Given the description of an element on the screen output the (x, y) to click on. 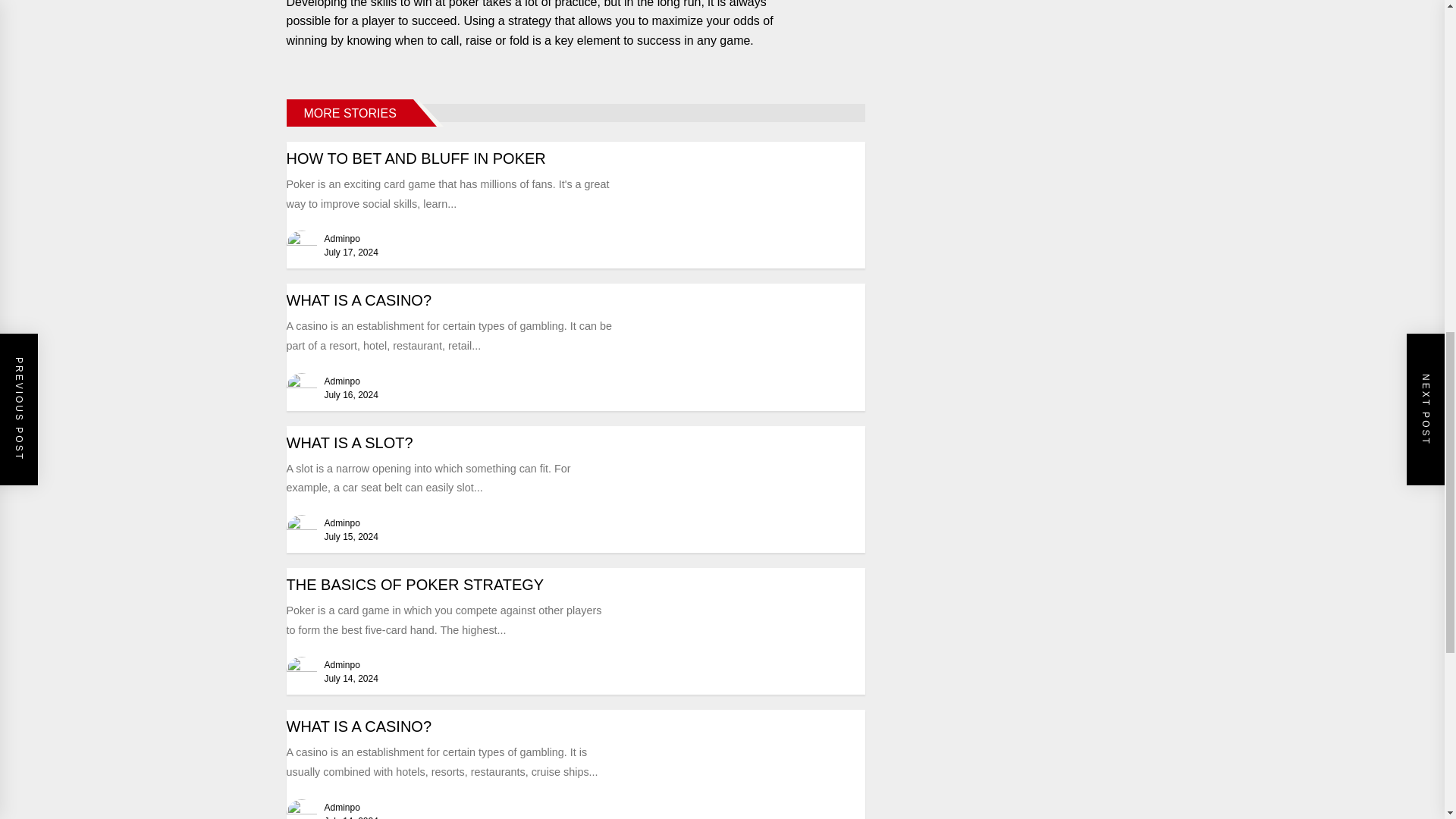
July 17, 2024 (351, 252)
HOW TO BET AND BLUFF IN POKER (416, 158)
Adminpo (341, 238)
